Given the description of an element on the screen output the (x, y) to click on. 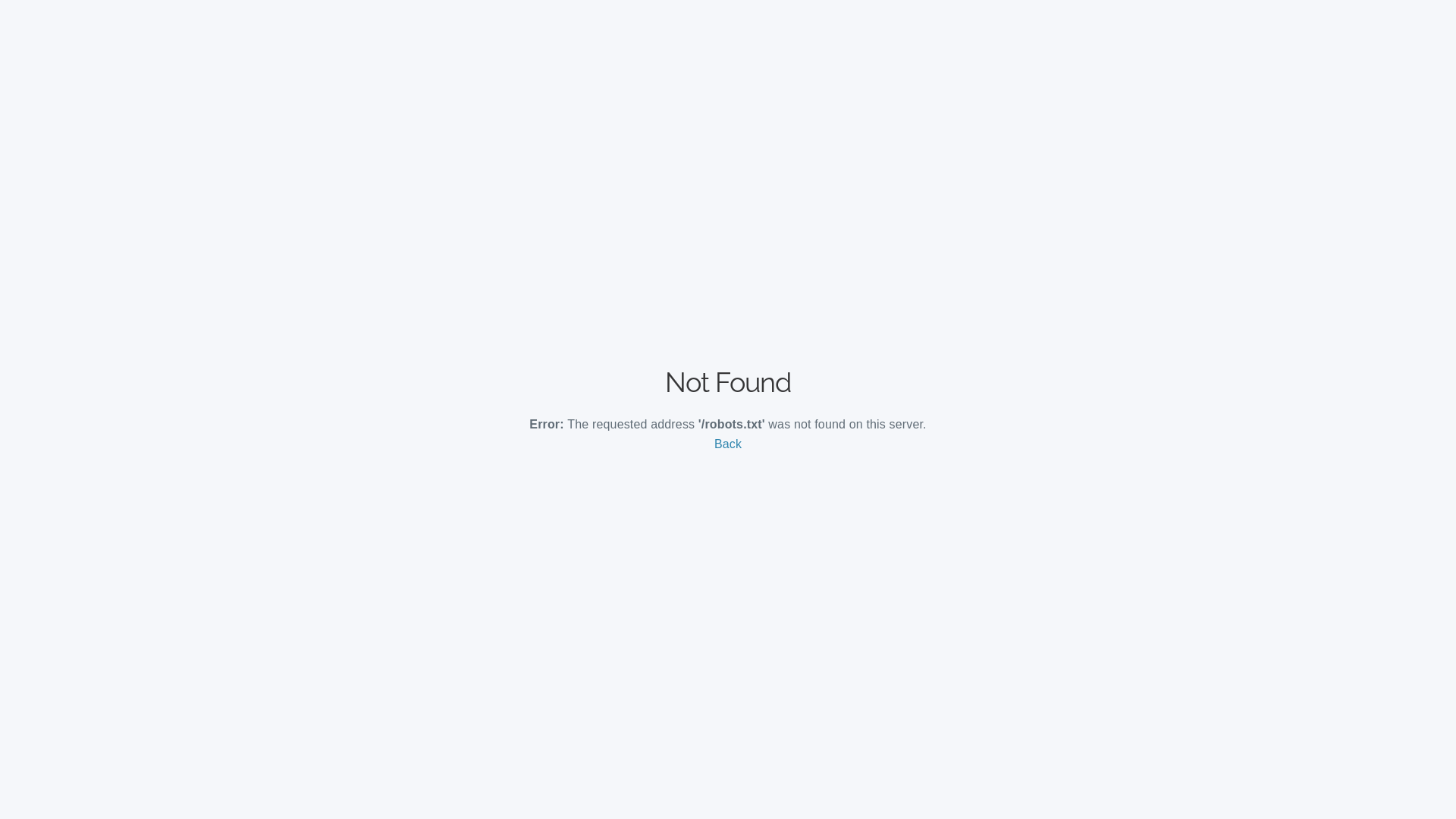
Back Element type: text (727, 443)
